Given the description of an element on the screen output the (x, y) to click on. 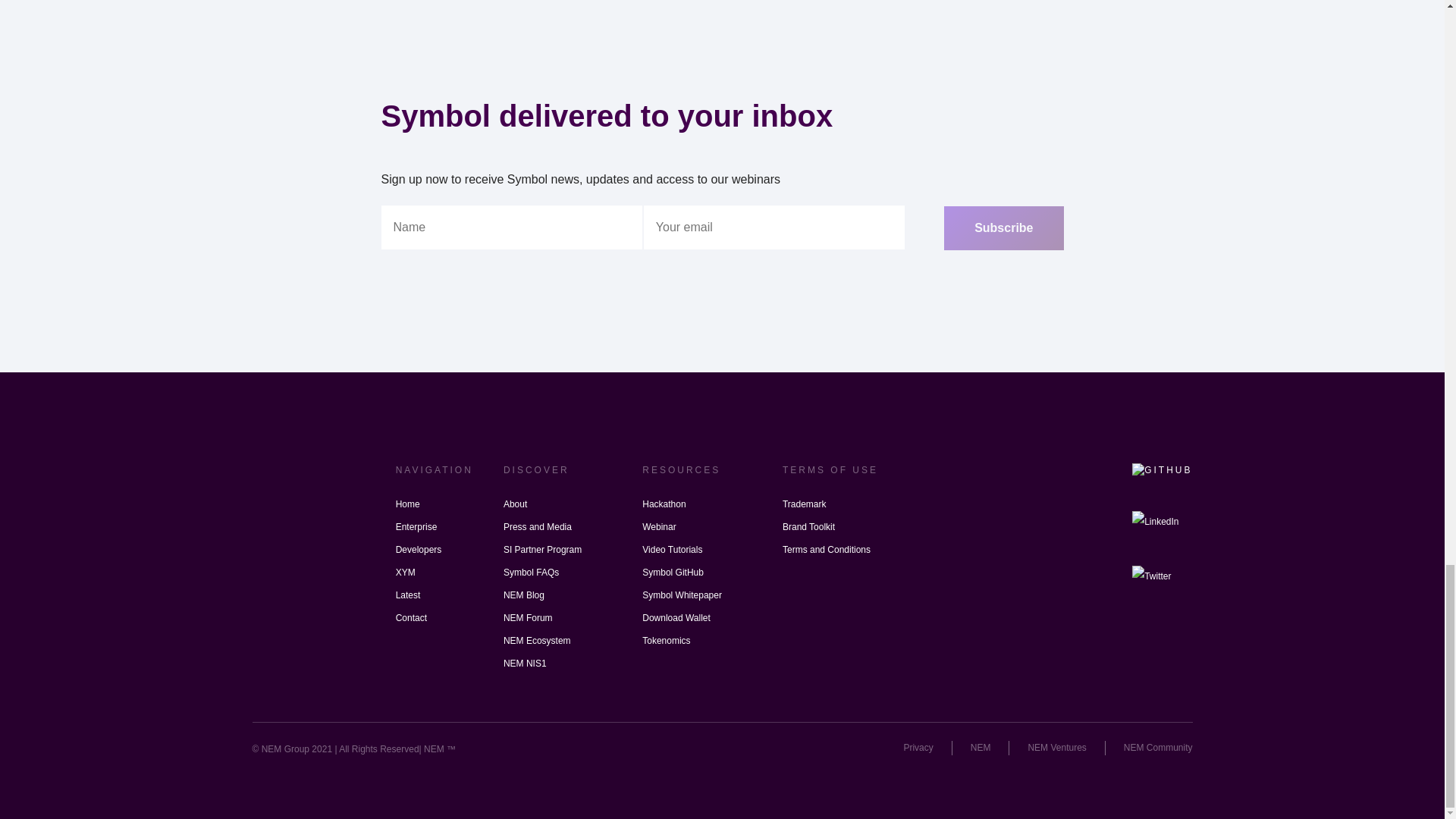
Contact (411, 617)
NEM Ecosystem (536, 640)
Tokenomics (666, 640)
NEM Forum (528, 617)
Subscribe (1002, 228)
SI Partner Program (541, 549)
Symbol GitHub (672, 572)
Symbol Whitepaper (682, 595)
About (515, 504)
Symbol FAQs (531, 572)
